Given the description of an element on the screen output the (x, y) to click on. 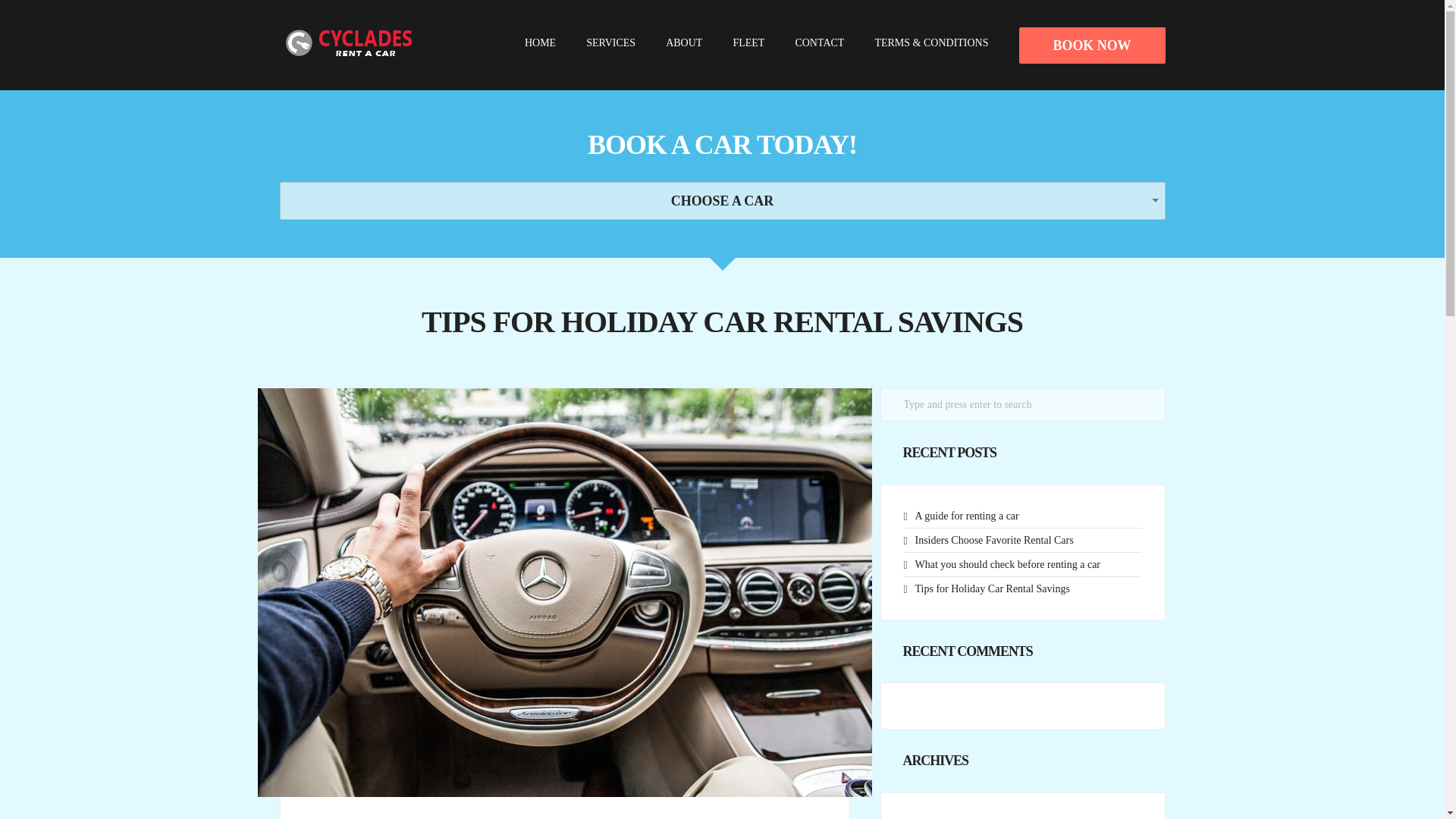
ABOUT (683, 42)
FLEET (748, 42)
A guide for renting a car (965, 515)
Insiders Choose Favorite Rental Cars (993, 540)
SERVICES (610, 42)
CONTACT (819, 42)
August 2016 (941, 818)
What you should check before renting a car (1007, 564)
HOME (540, 42)
BOOK NOW (1091, 45)
Tips for Holiday Car Rental Savings (991, 588)
